Given the description of an element on the screen output the (x, y) to click on. 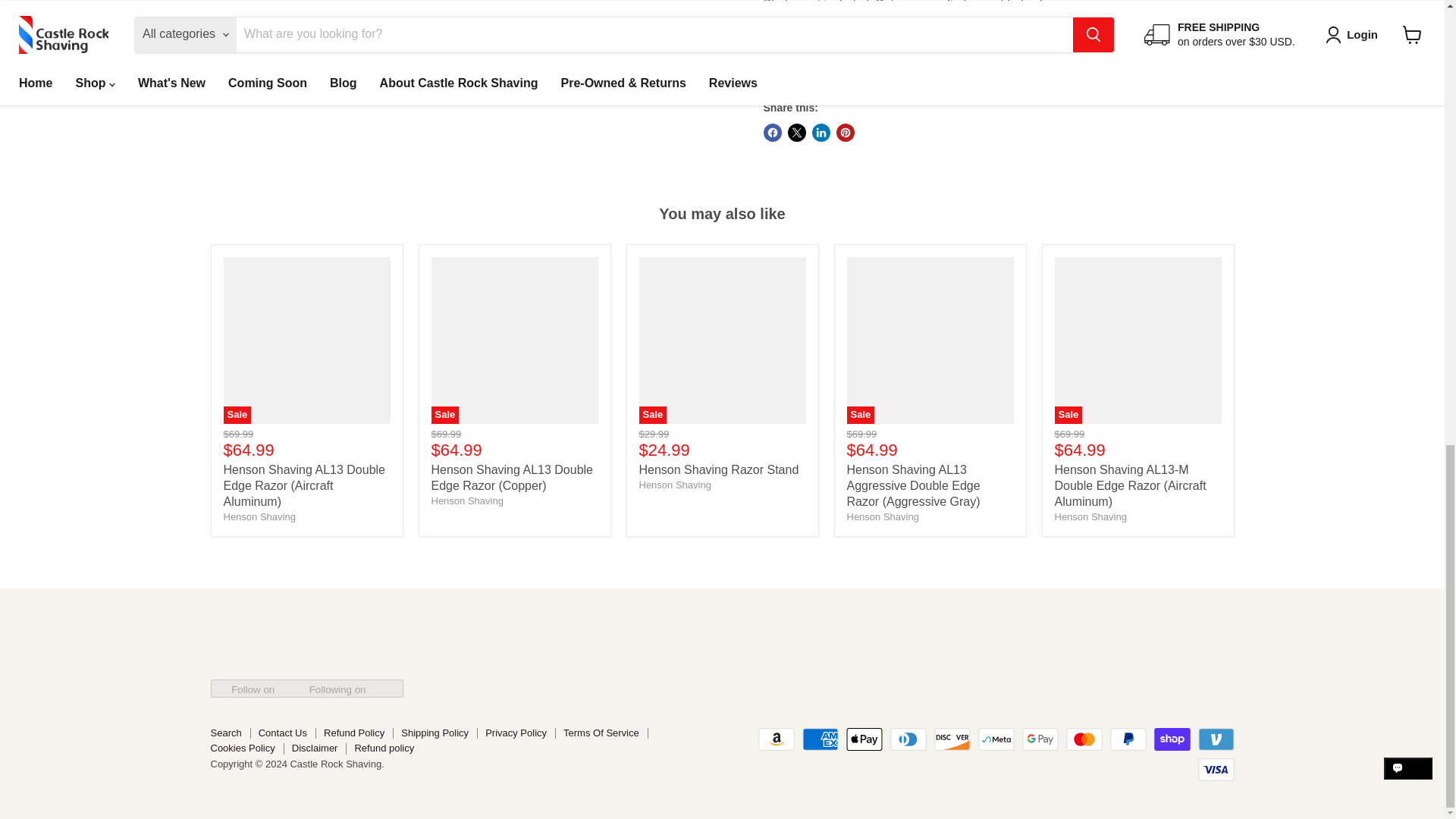
Henson Shaving (466, 500)
Apple Pay (863, 738)
1 (839, 67)
Henson Shaving (258, 516)
American Express (820, 738)
Meta Pay (996, 738)
Amazon (776, 738)
Henson Shaving (1089, 516)
Discover (952, 738)
Henson Shaving (674, 484)
Diners Club (907, 738)
Henson Shaving (881, 516)
